Given the description of an element on the screen output the (x, y) to click on. 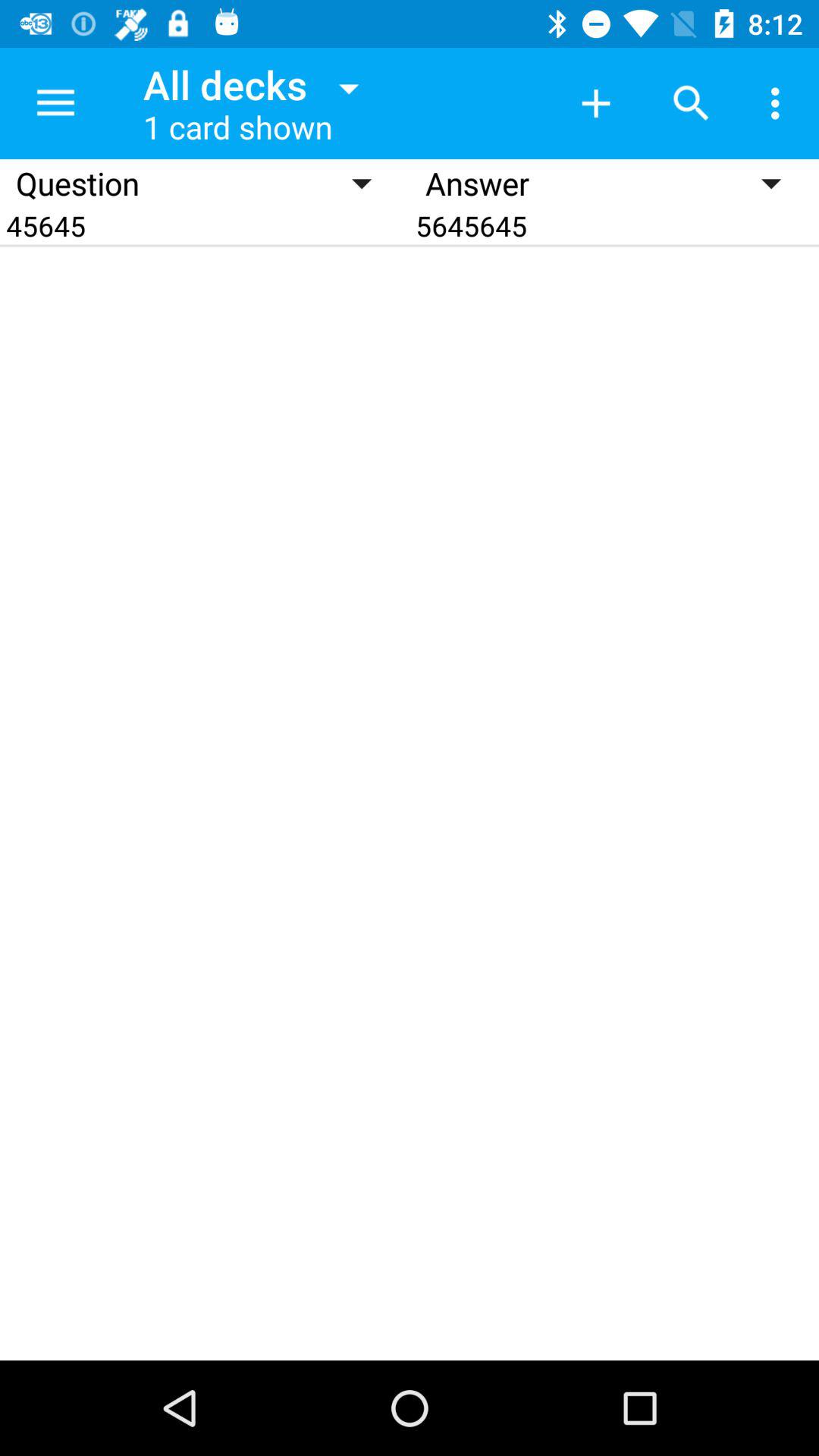
choose item above the question item (55, 103)
